Given the description of an element on the screen output the (x, y) to click on. 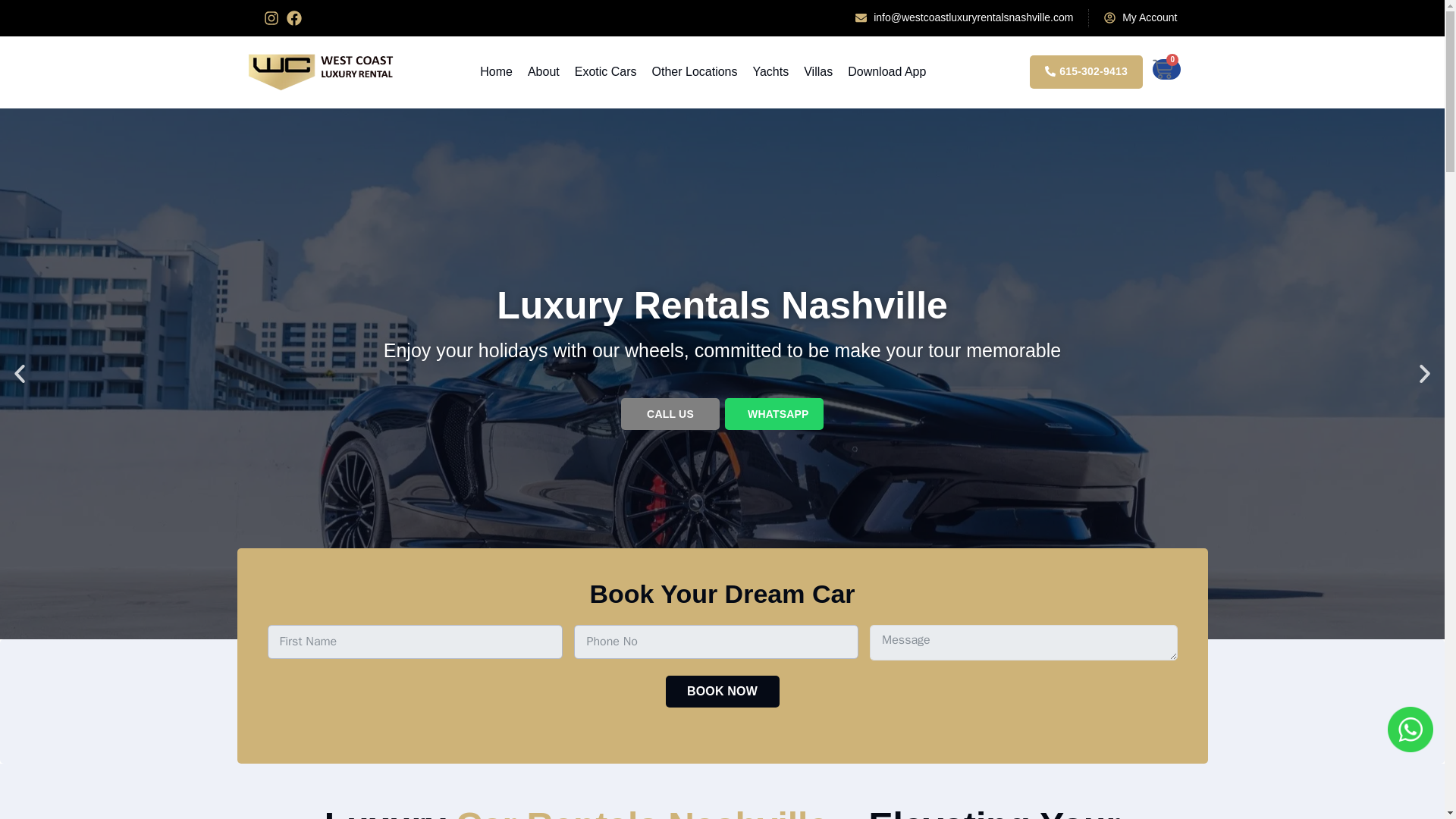
Villas (818, 71)
CALL US (670, 413)
Yachts (769, 71)
WHATSAPP (778, 413)
Exotic Cars (605, 71)
0 (1166, 68)
My Account (1139, 18)
615-302-9413 (1085, 71)
Download App (886, 71)
Other Locations (694, 71)
About (543, 71)
CALL US (670, 413)
WHATSAPP (774, 413)
Home (495, 71)
